Given the description of an element on the screen output the (x, y) to click on. 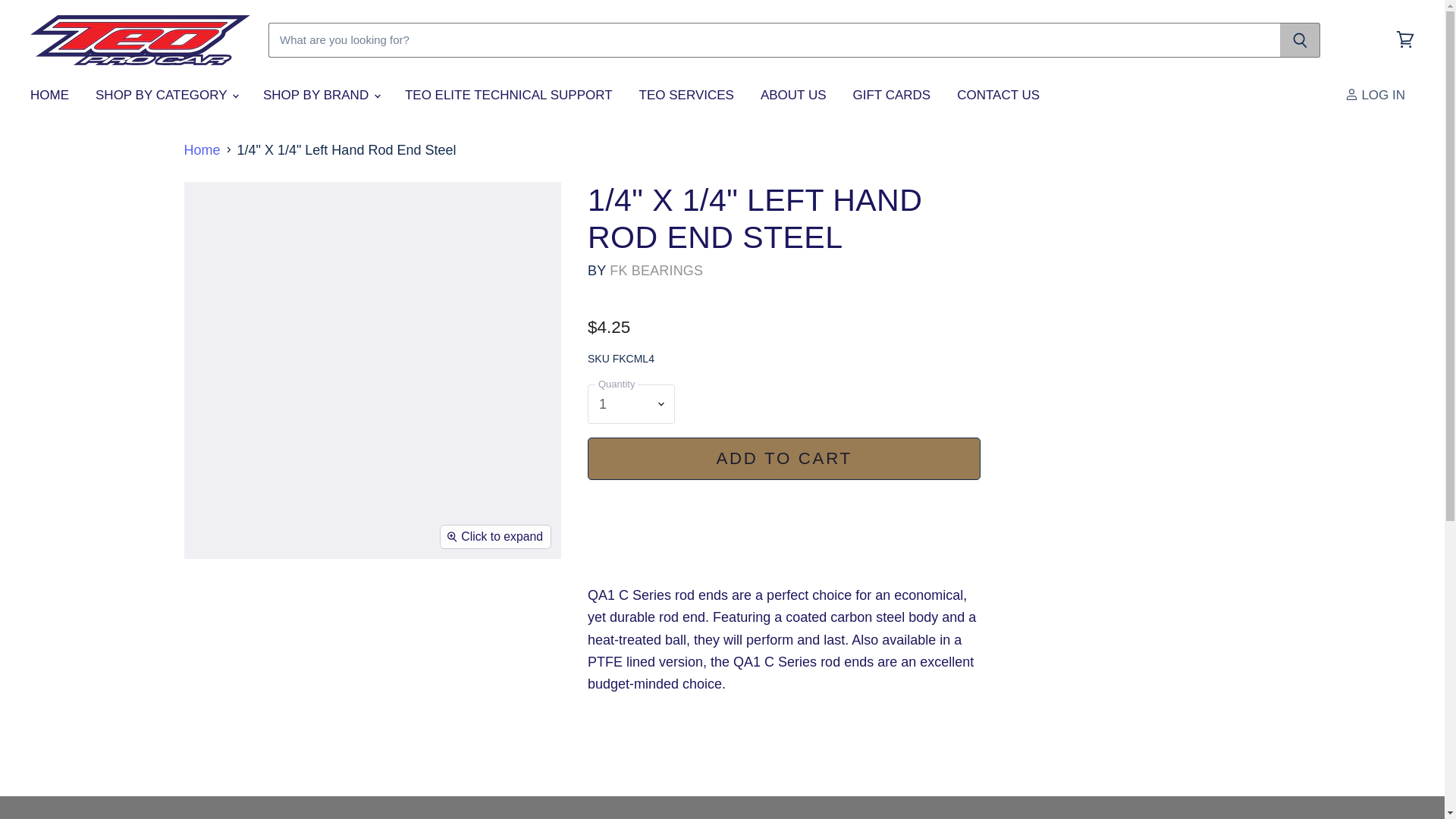
SHOP BY CATEGORY (165, 95)
FK Bearings (656, 270)
HOME (49, 95)
View cart (1405, 39)
ACCOUNT ICON (1351, 93)
